Given the description of an element on the screen output the (x, y) to click on. 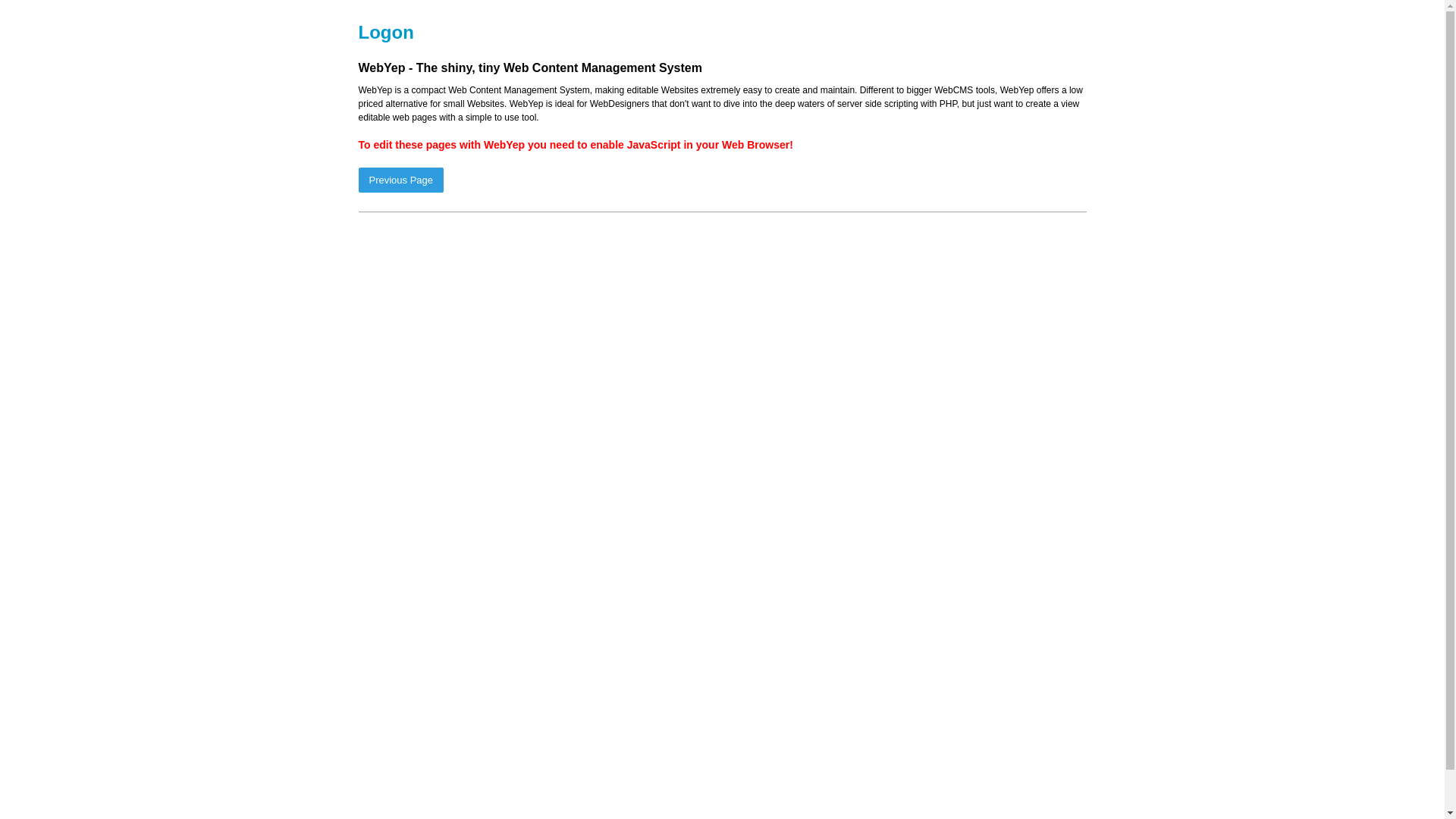
Previous Page Element type: text (400, 179)
